Given the description of an element on the screen output the (x, y) to click on. 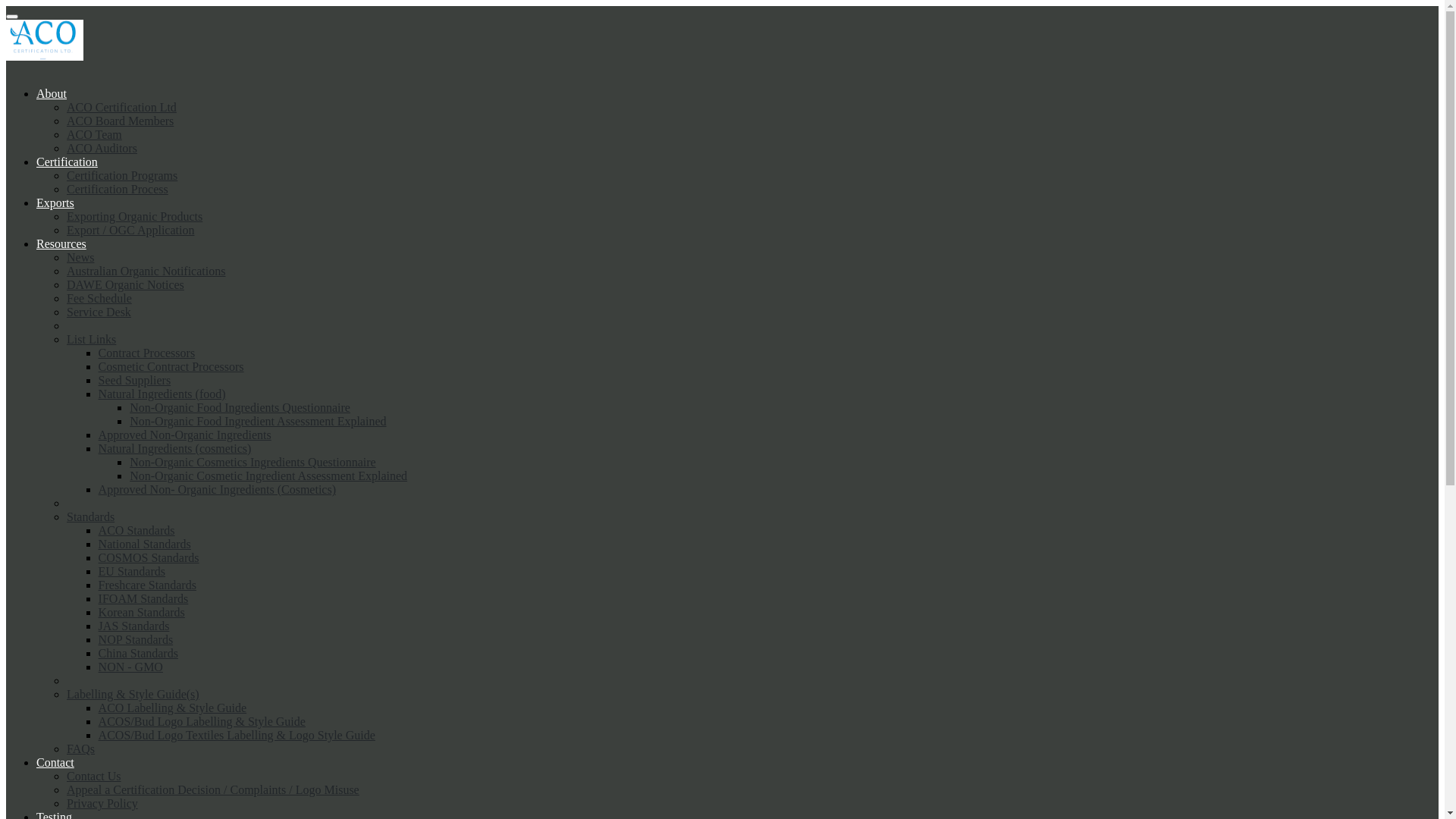
ACO Auditors Element type: text (101, 147)
Natural Ingredients (food) Element type: text (161, 393)
Exports Element type: text (55, 202)
ACO Labelling & Style Guide Element type: text (172, 707)
JAS Standards Element type: text (133, 625)
About Element type: text (51, 93)
Certification Element type: text (66, 161)
FAQs Element type: text (80, 748)
Appeal a Certification Decision / Complaints / Logo Misuse Element type: text (212, 789)
News Element type: text (80, 257)
Approved Non-Organic Ingredients Element type: text (184, 434)
ACO Standards Element type: text (136, 530)
Privacy Policy Element type: text (102, 803)
Korean Standards Element type: text (141, 611)
Contact Us Element type: text (93, 775)
China Standards Element type: text (138, 652)
Contact Element type: text (55, 762)
NOP Standards Element type: text (135, 639)
List Links Element type: text (91, 338)
COSMOS Standards Element type: text (148, 557)
Seed Suppliers Element type: text (134, 379)
DAWE Organic Notices Element type: text (125, 284)
Non-Organic Cosmetic Ingredient Assessment Explained Element type: text (268, 475)
NON - GMO Element type: text (130, 666)
Australian Organic Notifications Element type: text (145, 270)
Non-Organic Cosmetics Ingredients Questionnaire Element type: text (252, 461)
Cosmetic Contract Processors Element type: text (171, 366)
IFOAM Standards Element type: text (143, 598)
Certification Programs Element type: text (121, 175)
Contract Processors Element type: text (146, 352)
Freshcare Standards Element type: text (147, 584)
Approved Non- Organic Ingredients (Cosmetics) Element type: text (216, 489)
Non-Organic Food Ingredients Questionnaire Element type: text (239, 407)
ACOS/Bud Logo Textiles Labelling & Logo Style Guide Element type: text (236, 734)
Fee Schedule Element type: text (98, 297)
Resources Element type: text (61, 243)
Standards Element type: text (90, 516)
ACO Board Members Element type: text (119, 120)
ACO Team Element type: text (94, 134)
ACOS/Bud Logo Labelling & Style Guide Element type: text (201, 721)
Service Desk Element type: text (98, 311)
EU Standards Element type: text (131, 570)
Exporting Organic Products Element type: text (134, 216)
ACO Certification Ltd Element type: text (121, 106)
Export / OGC Application Element type: text (130, 229)
Natural Ingredients (cosmetics) Element type: text (174, 448)
Labelling & Style Guide(s) Element type: text (132, 693)
Certification Process Element type: text (117, 188)
National Standards Element type: text (144, 543)
Non-Organic Food Ingredient Assessment Explained Element type: text (257, 420)
